Given the description of an element on the screen output the (x, y) to click on. 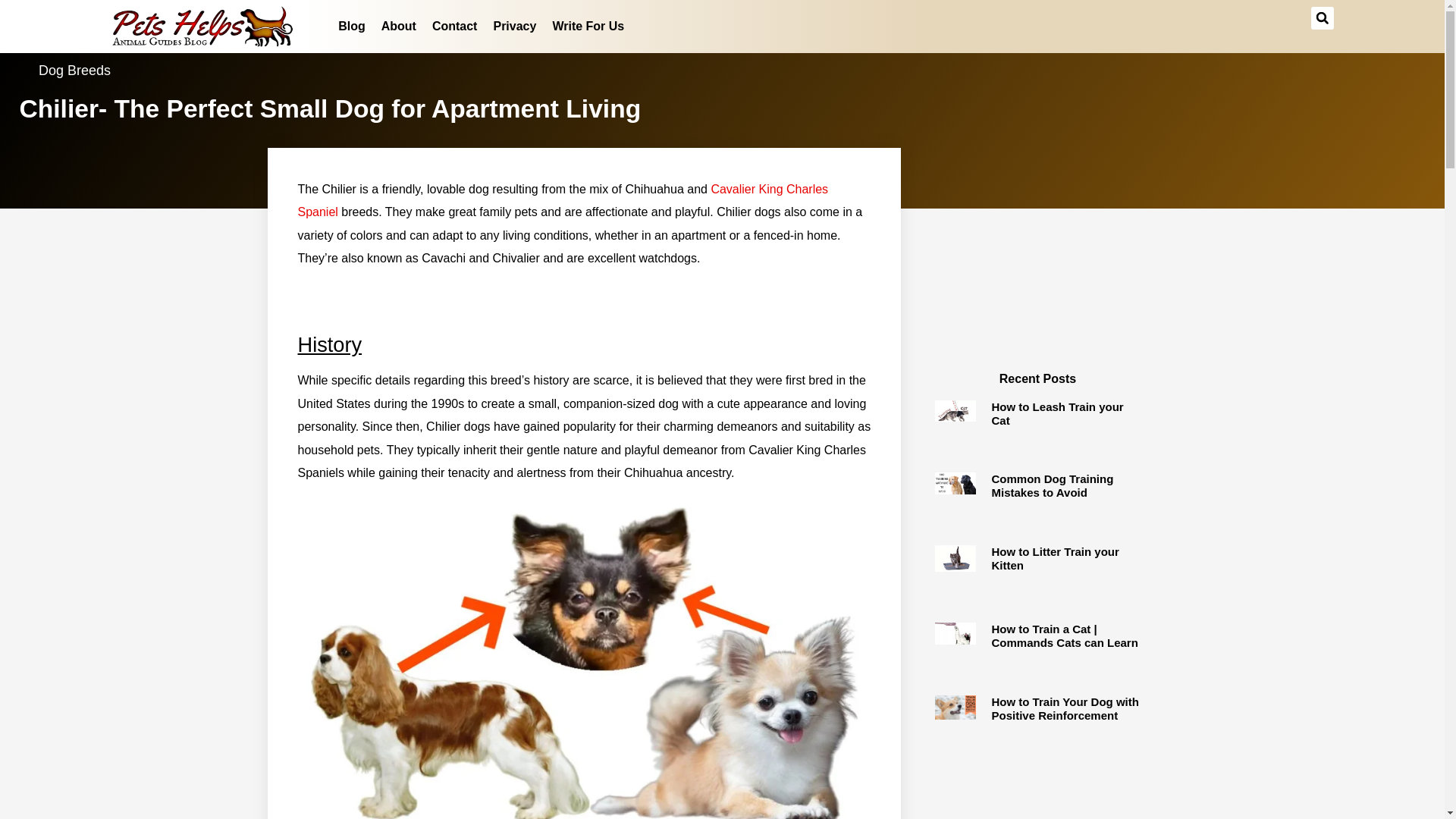
Cavalier King Charles Spaniel (562, 200)
Blog (351, 26)
Write For Us (588, 26)
Dog Breeds (74, 70)
Privacy (513, 26)
Contact (454, 26)
About (398, 26)
